Given the description of an element on the screen output the (x, y) to click on. 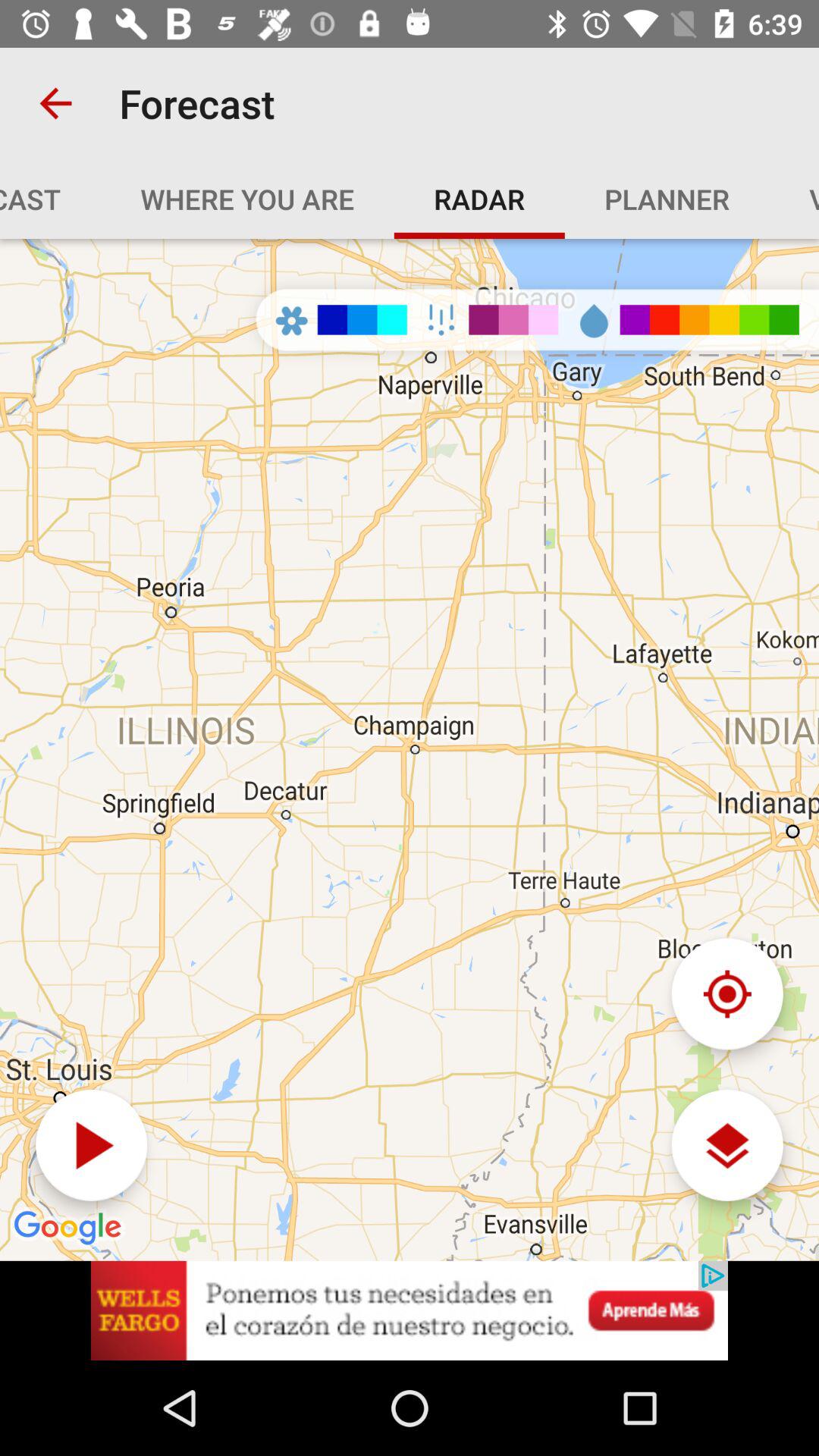
advertisement (409, 1310)
